Given the description of an element on the screen output the (x, y) to click on. 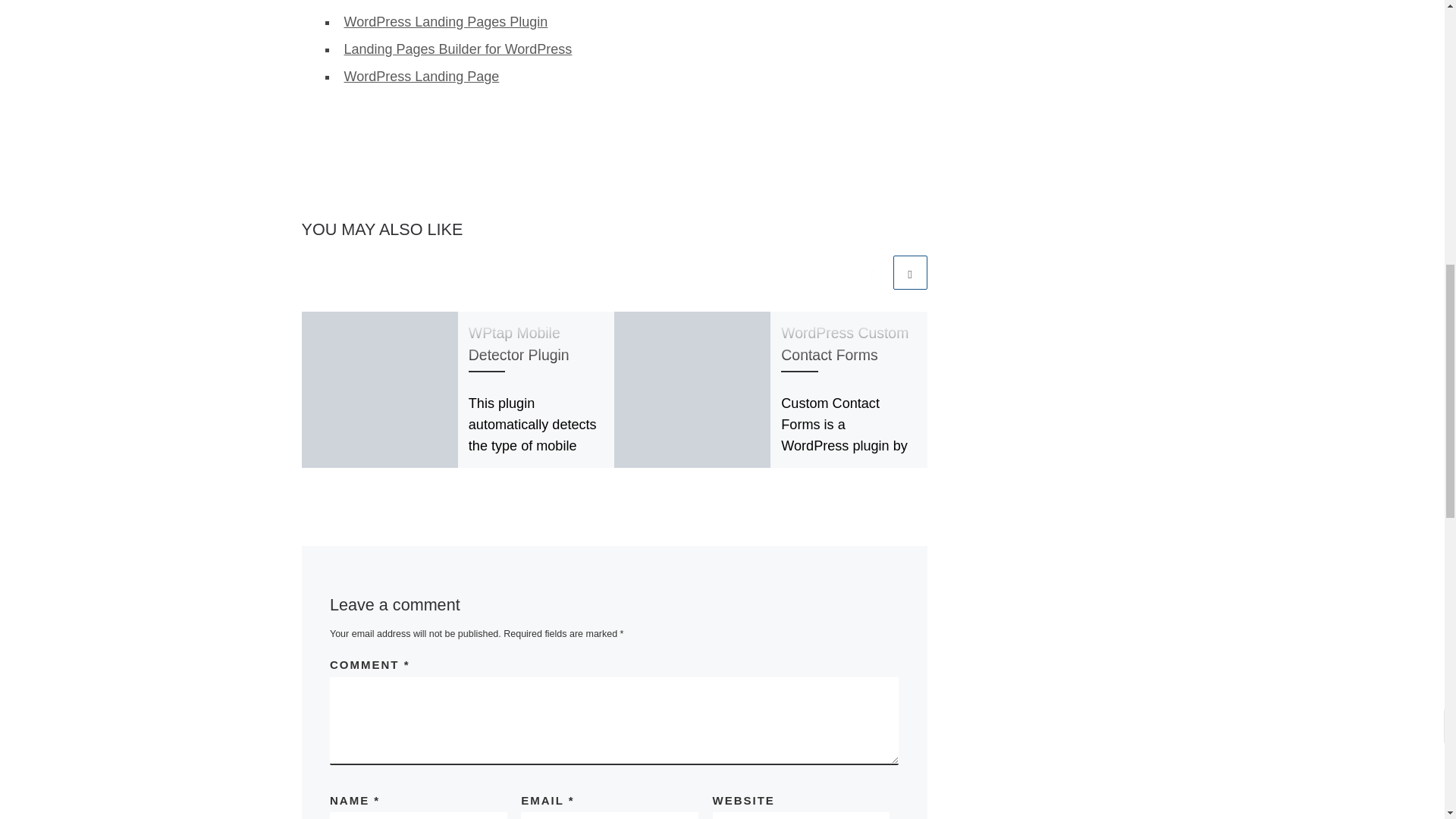
WordPress Custom Contact Forms (844, 343)
WordPress Landing Pages Plugin (445, 21)
Previous related articles (872, 272)
Landing Pages Builder for WordPress (457, 48)
WPtap Mobile Detector Plugin (518, 343)
WordPress Landing Page (421, 76)
Next related articles (910, 272)
